Given the description of an element on the screen output the (x, y) to click on. 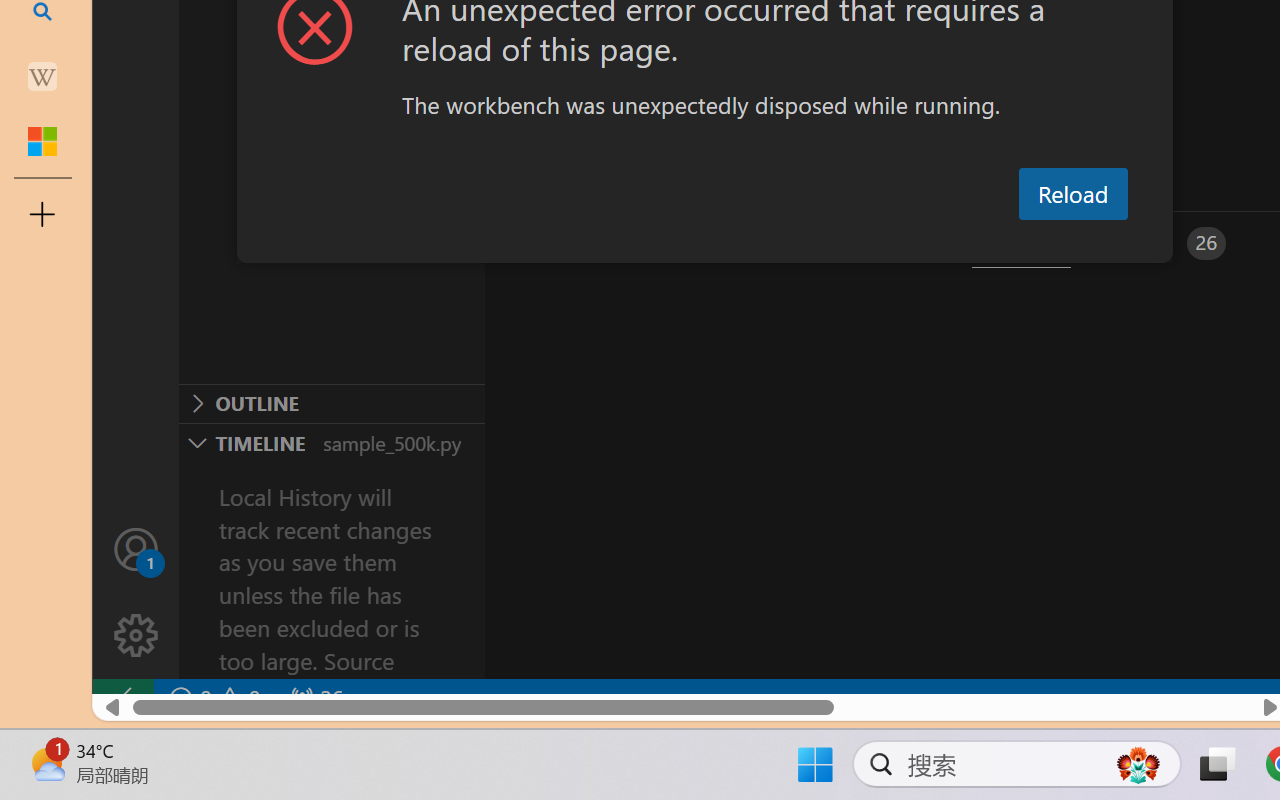
Ports - 26 forwarded ports (1165, 243)
Timeline Section (331, 442)
Output (Ctrl+Shift+U) (696, 243)
Terminal (Ctrl+`) (1021, 243)
No Problems (212, 698)
Accounts - Sign in requested (135, 548)
Debug Console (Ctrl+Shift+Y) (854, 243)
Problems (Ctrl+Shift+M) (567, 243)
Reload (1071, 193)
